Given the description of an element on the screen output the (x, y) to click on. 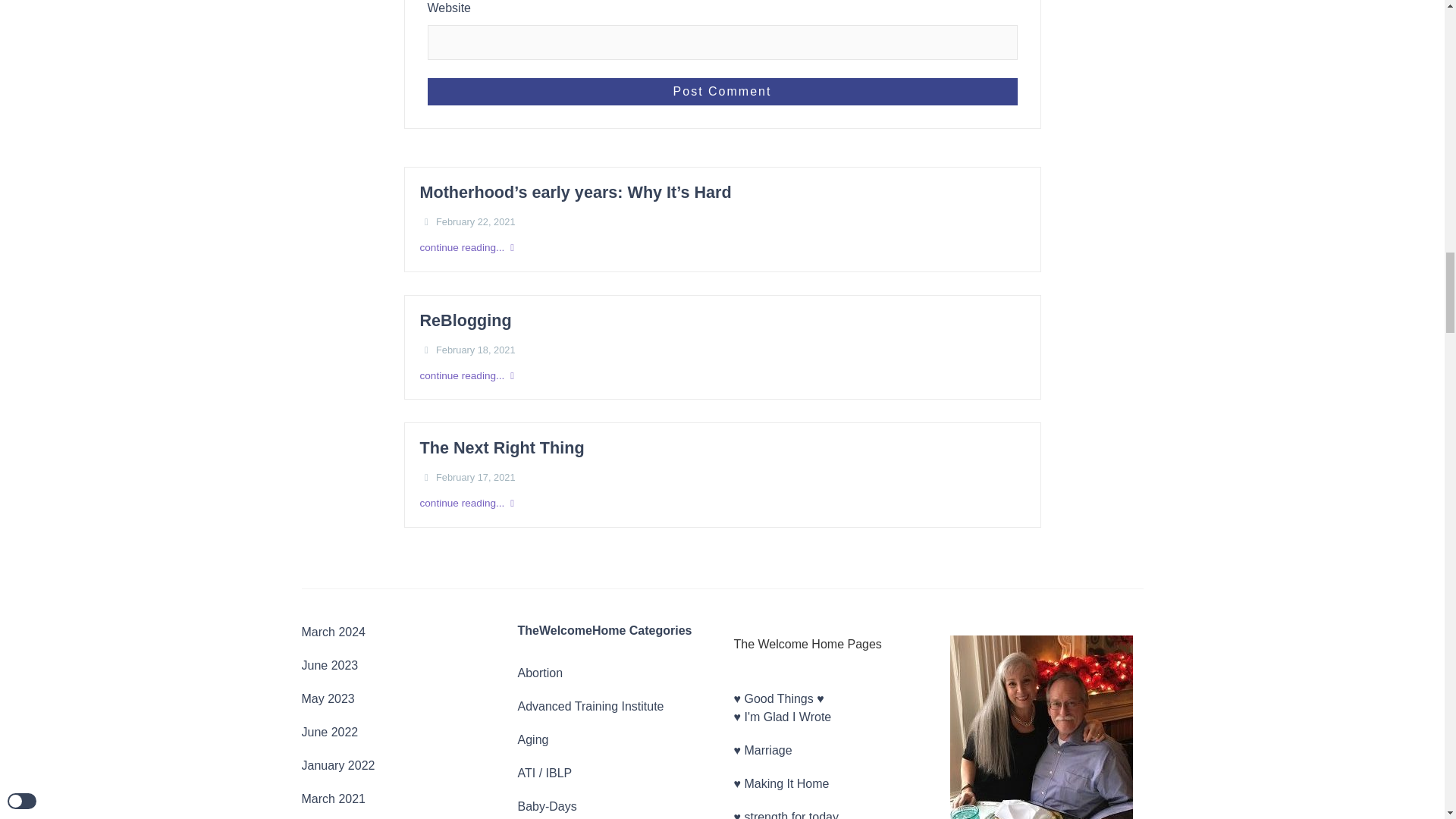
ReBlogging (466, 321)
February 22, 2021 (475, 221)
Post Comment (722, 91)
February 18, 2021 (475, 350)
Post Comment (722, 91)
continue reading... (722, 247)
